Given the description of an element on the screen output the (x, y) to click on. 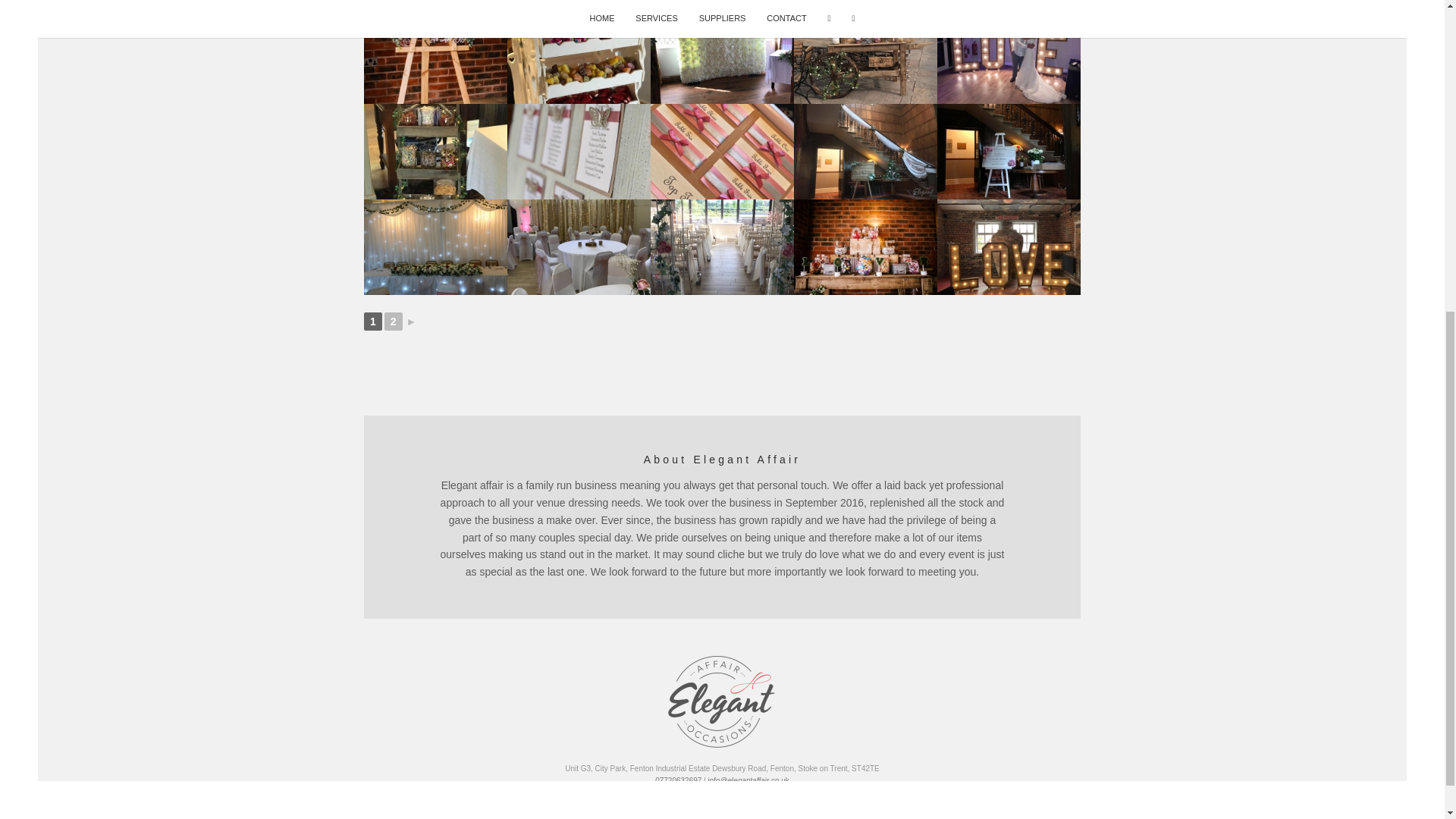
white love aston (1008, 4)
MOONARCH (865, 4)
LOVE Ashes floral (721, 4)
2 (393, 321)
Neon Light (578, 4)
Hexagon (435, 4)
ACRLYC SIGN 2 (435, 56)
